Given the description of an element on the screen output the (x, y) to click on. 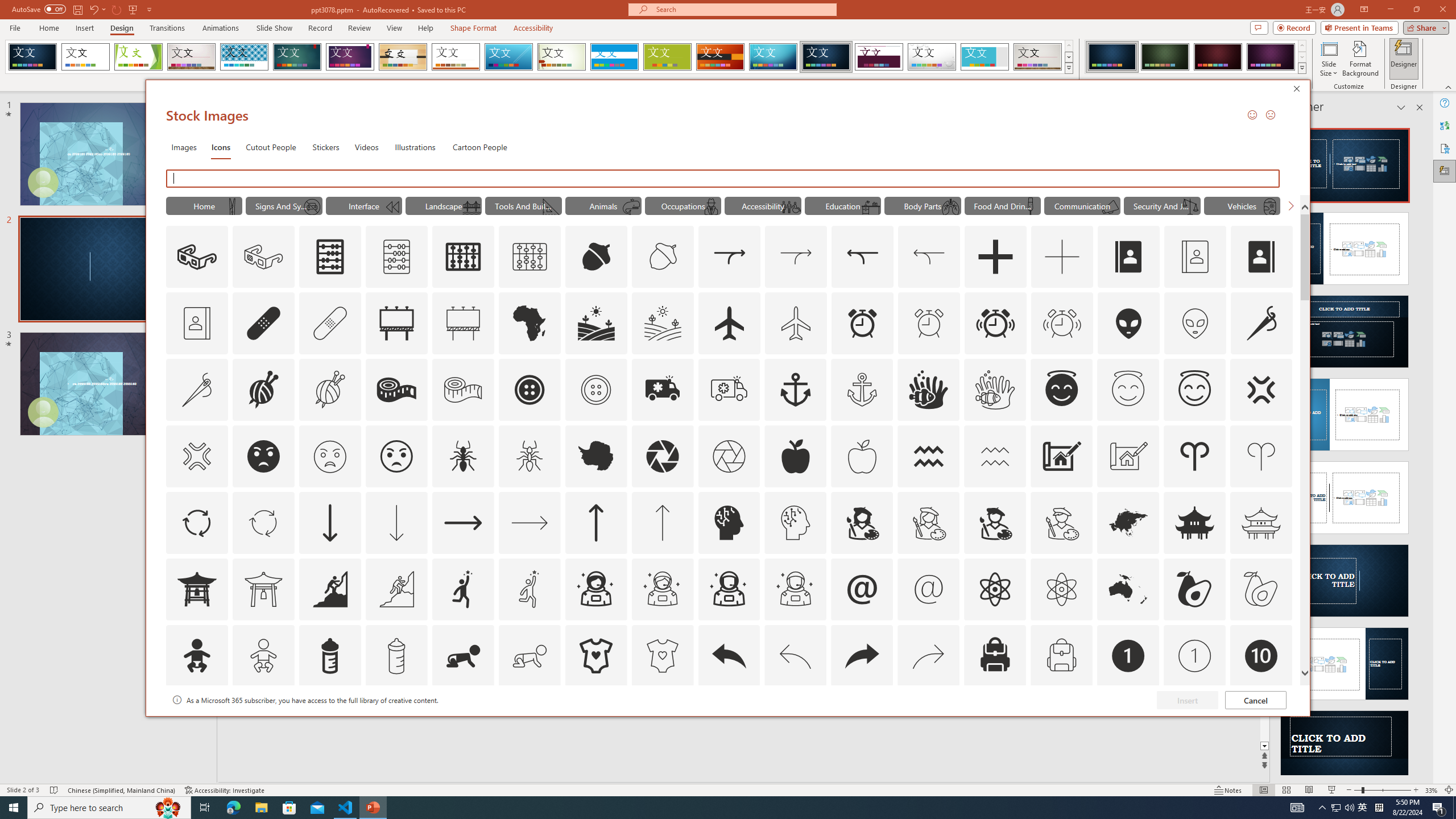
AutomationID: Icons_Badge4 (529, 721)
AutomationID: Icons_Ambulance (662, 389)
Search Icons (723, 178)
